Given the description of an element on the screen output the (x, y) to click on. 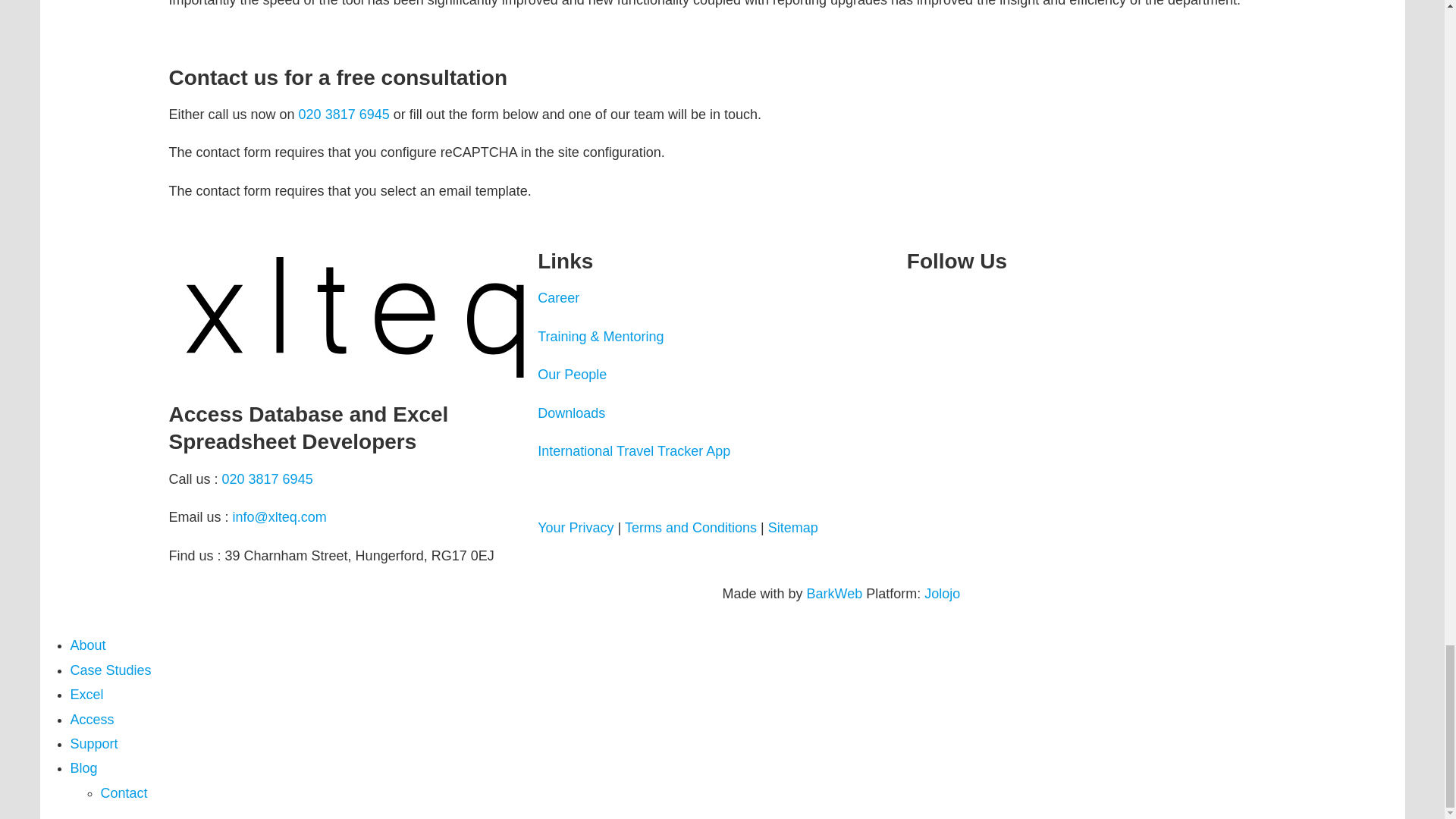
Jolojo (941, 593)
020 3817 6945 (344, 114)
Career (558, 297)
BarkWeb (834, 593)
Blog (83, 767)
Downloads (571, 412)
Access (91, 719)
About (86, 645)
020 3817 6945 (267, 478)
Support (93, 743)
Excel (86, 694)
Contact (123, 792)
Our People (572, 374)
Case Studies (110, 670)
International Travel Tracker App (633, 450)
